Given the description of an element on the screen output the (x, y) to click on. 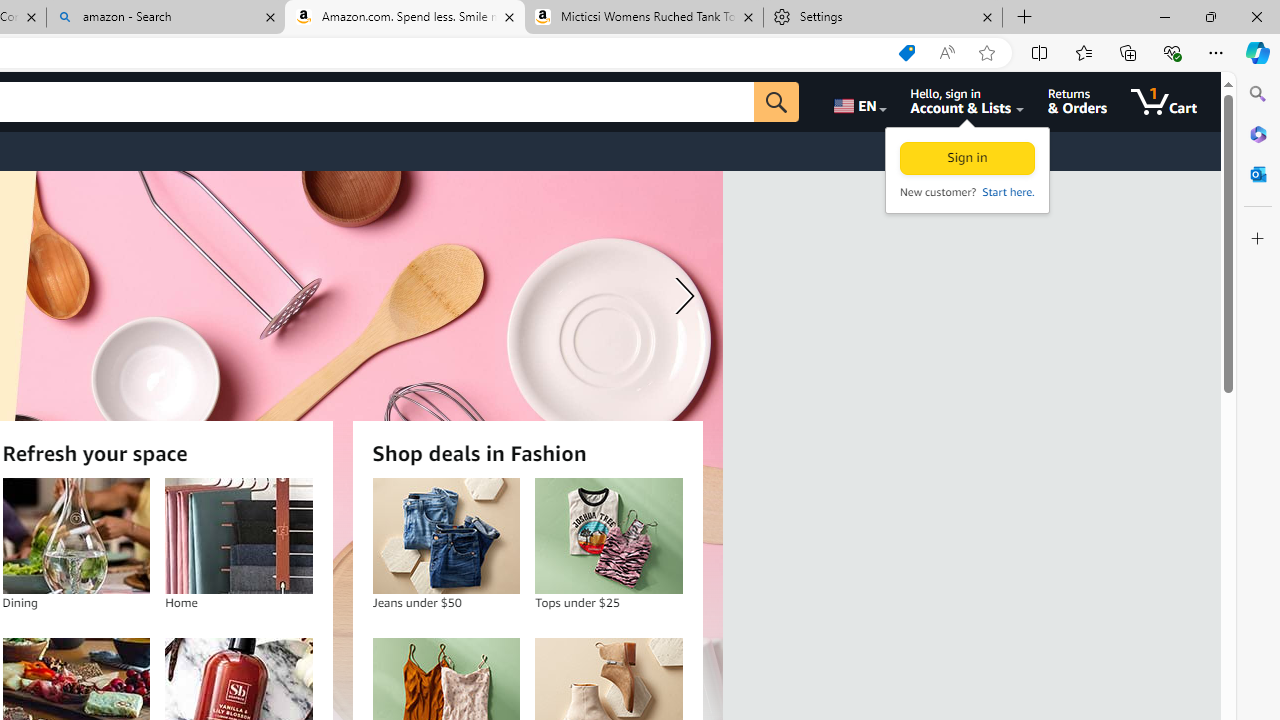
Sign in (967, 157)
Home (239, 536)
Amazon.com. Spend less. Smile more. (404, 17)
New Tab (1025, 17)
Copilot (Ctrl+Shift+.) (1258, 52)
Collections (1128, 52)
Hello, sign in Account & Lists (967, 101)
Browser essentials (1171, 52)
Choose a language for shopping. (858, 101)
Microsoft 365 (1258, 133)
Split screen (1039, 52)
Go (776, 101)
Read aloud this page (Ctrl+Shift+U) (946, 53)
Jeans under $50 (445, 536)
Customize (1258, 239)
